Given the description of an element on the screen output the (x, y) to click on. 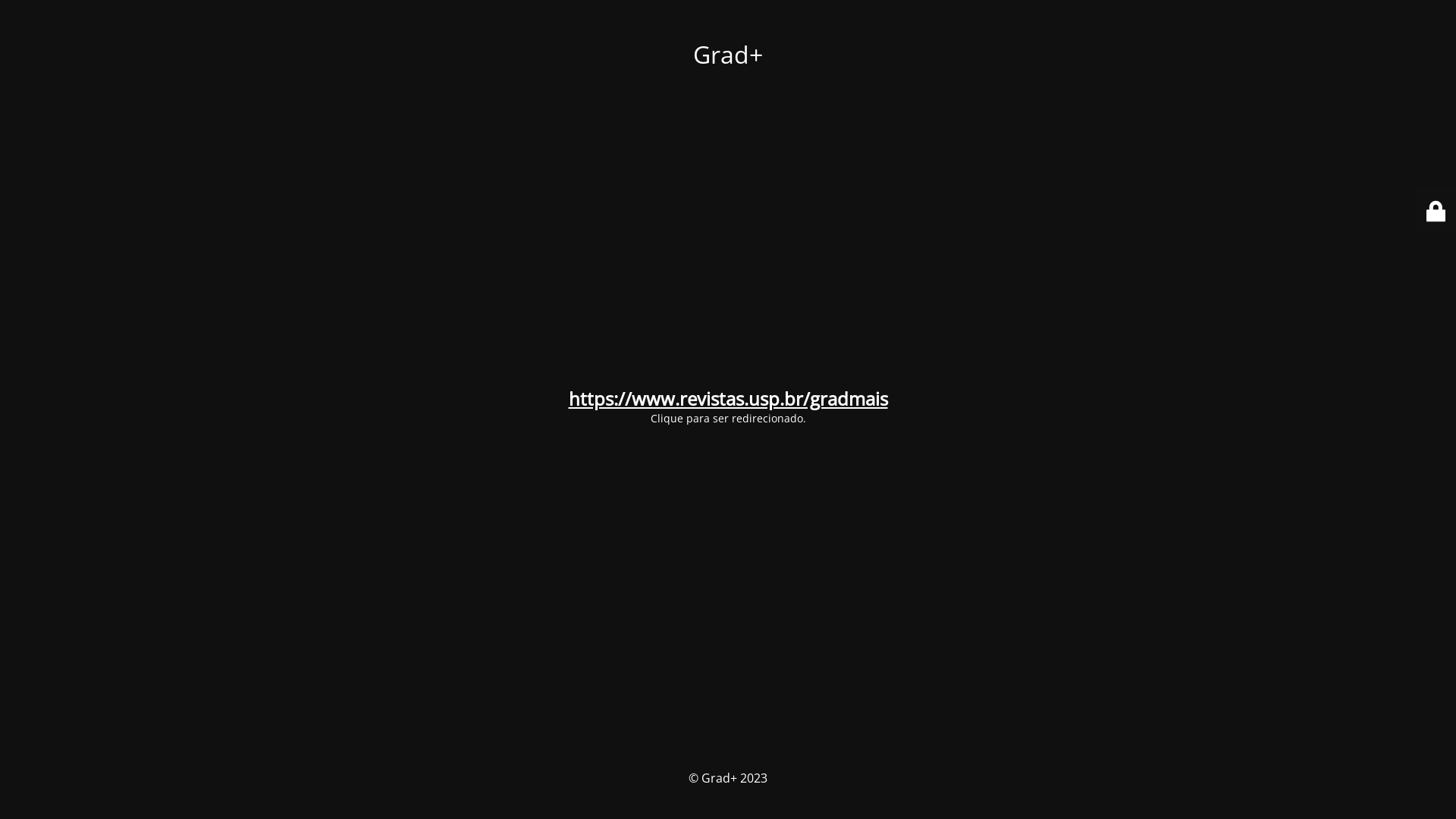
https://www.revistas.usp.br/gradmais Element type: text (728, 398)
